Given the description of an element on the screen output the (x, y) to click on. 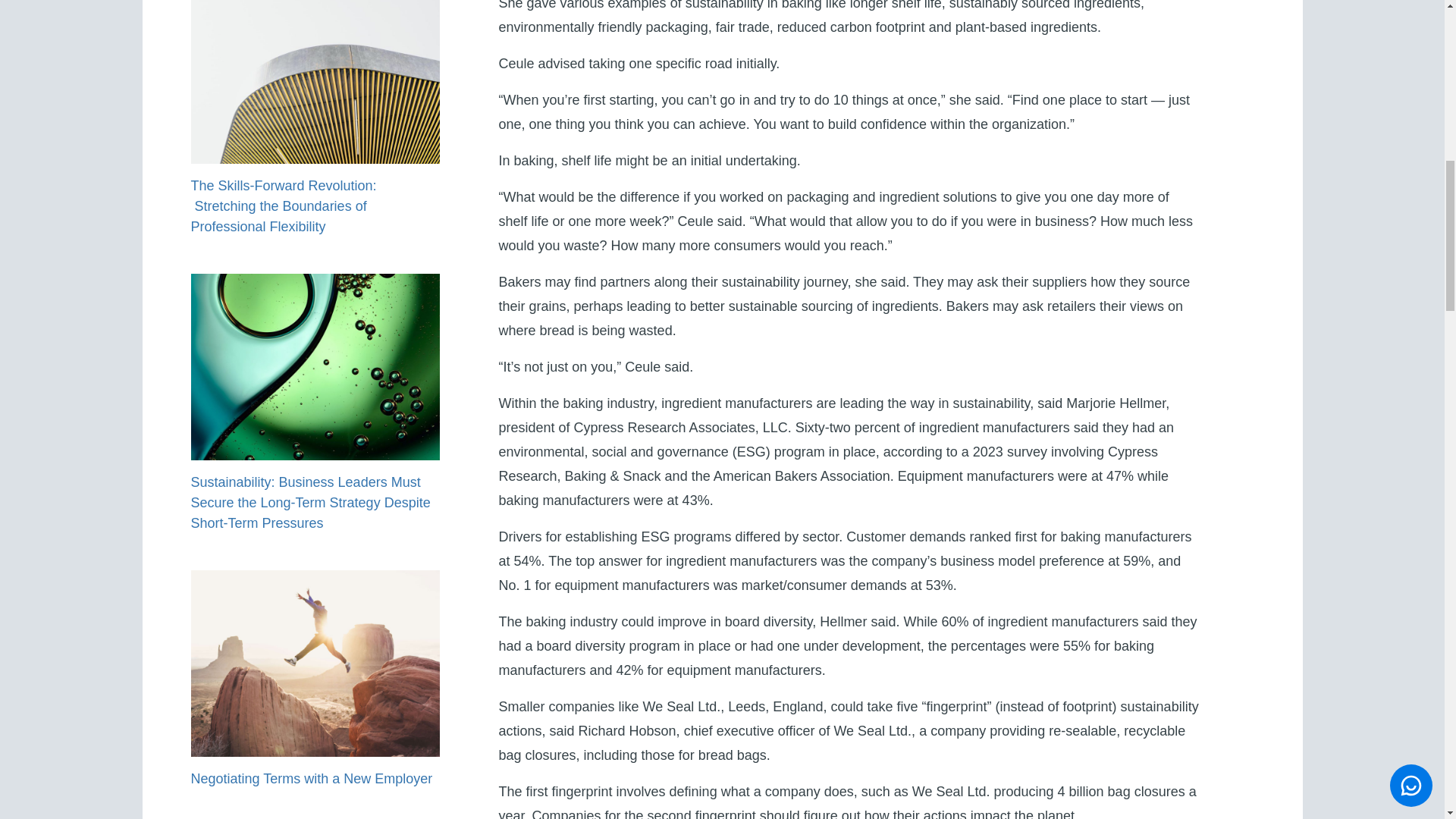
Negotiating Terms with a New Employer (311, 778)
